Given the description of an element on the screen output the (x, y) to click on. 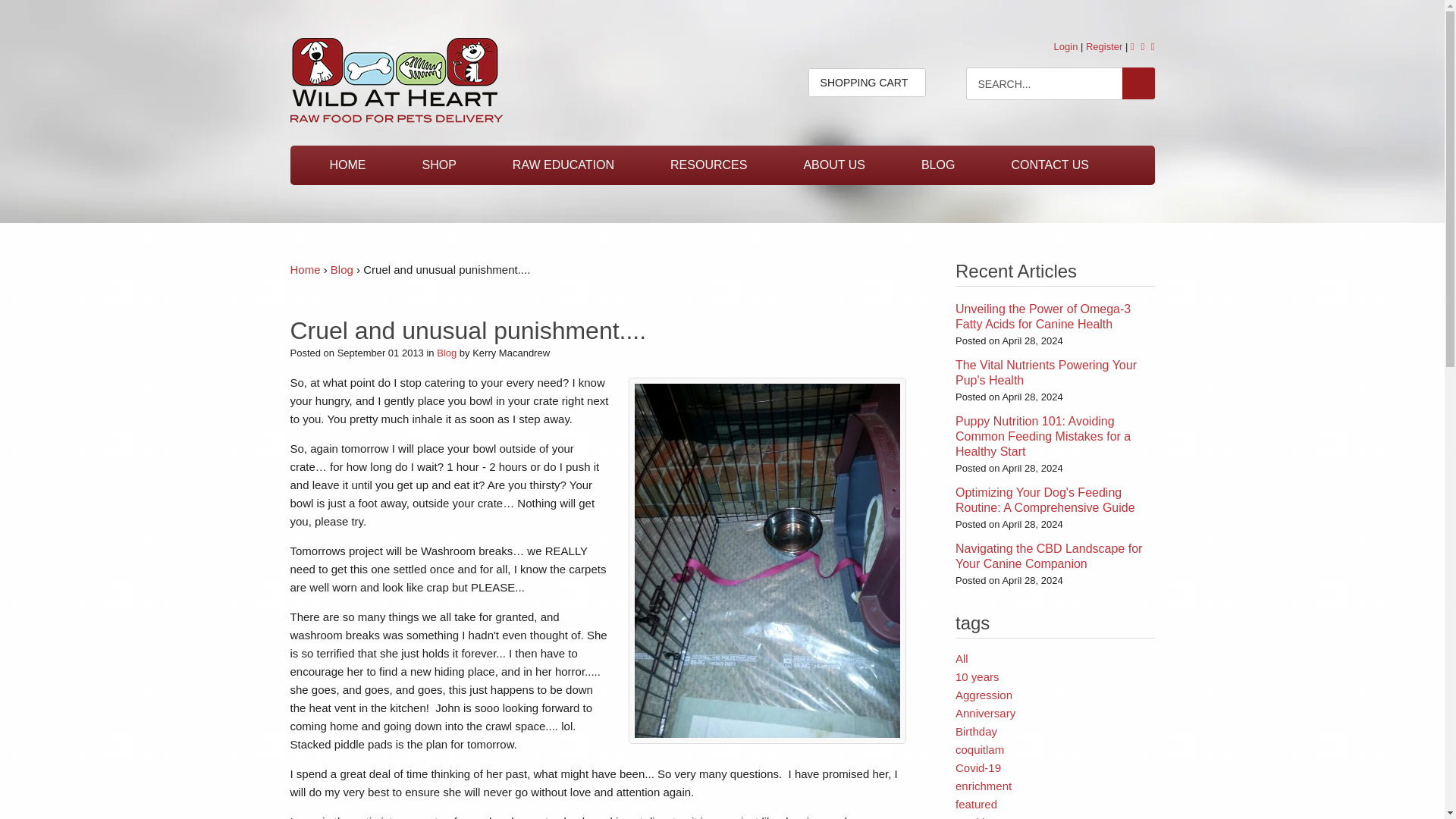
SHOPPING CART (867, 82)
Show articles tagged 10 years (976, 676)
Show articles tagged Covid-19 (978, 767)
View contents of your shopping cart (867, 82)
Show articles tagged Health (971, 817)
Show articles tagged featured (976, 803)
Show articles tagged Aggression (983, 694)
Show articles tagged Anniversary (984, 712)
Register (1104, 46)
Show articles tagged enrichment (983, 785)
Login (1066, 46)
Show articles tagged Birthday (976, 730)
Search (1138, 83)
Show articles tagged coquitlam (979, 748)
